Given the description of an element on the screen output the (x, y) to click on. 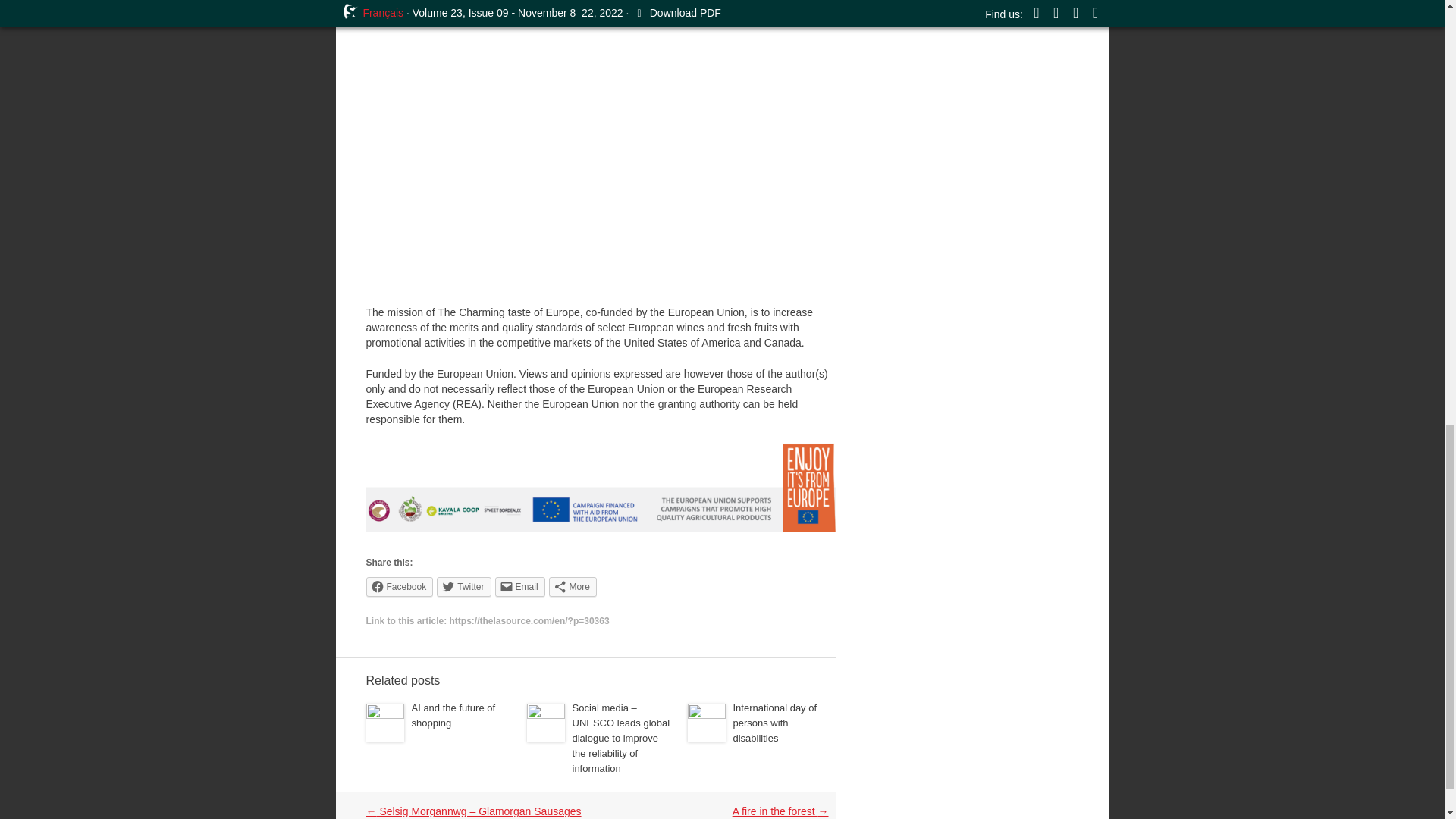
Permalink to AI and the future of shopping (452, 714)
Permalink to International day of persons with disabilities (774, 722)
Click to share on Facebook (398, 587)
Click to email this to a friend (519, 587)
Link to this article (529, 620)
Click to share on Twitter (463, 587)
